Given the description of an element on the screen output the (x, y) to click on. 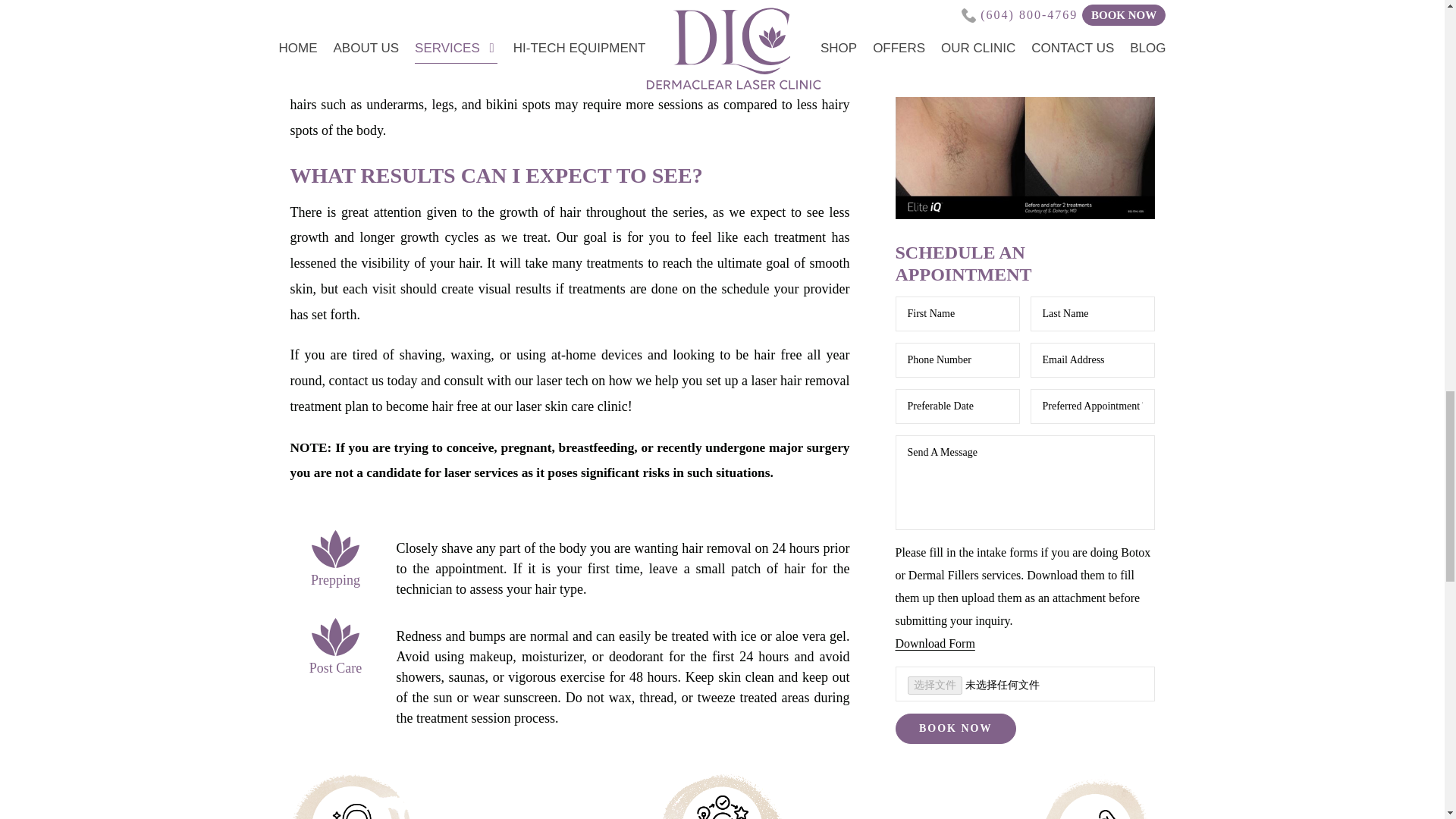
STATE OF THE ART LASER MACHINES (351, 796)
PROVEN RESULTS (1095, 796)
EXPERIENCED TECHNICIANS (722, 796)
